Given the description of an element on the screen output the (x, y) to click on. 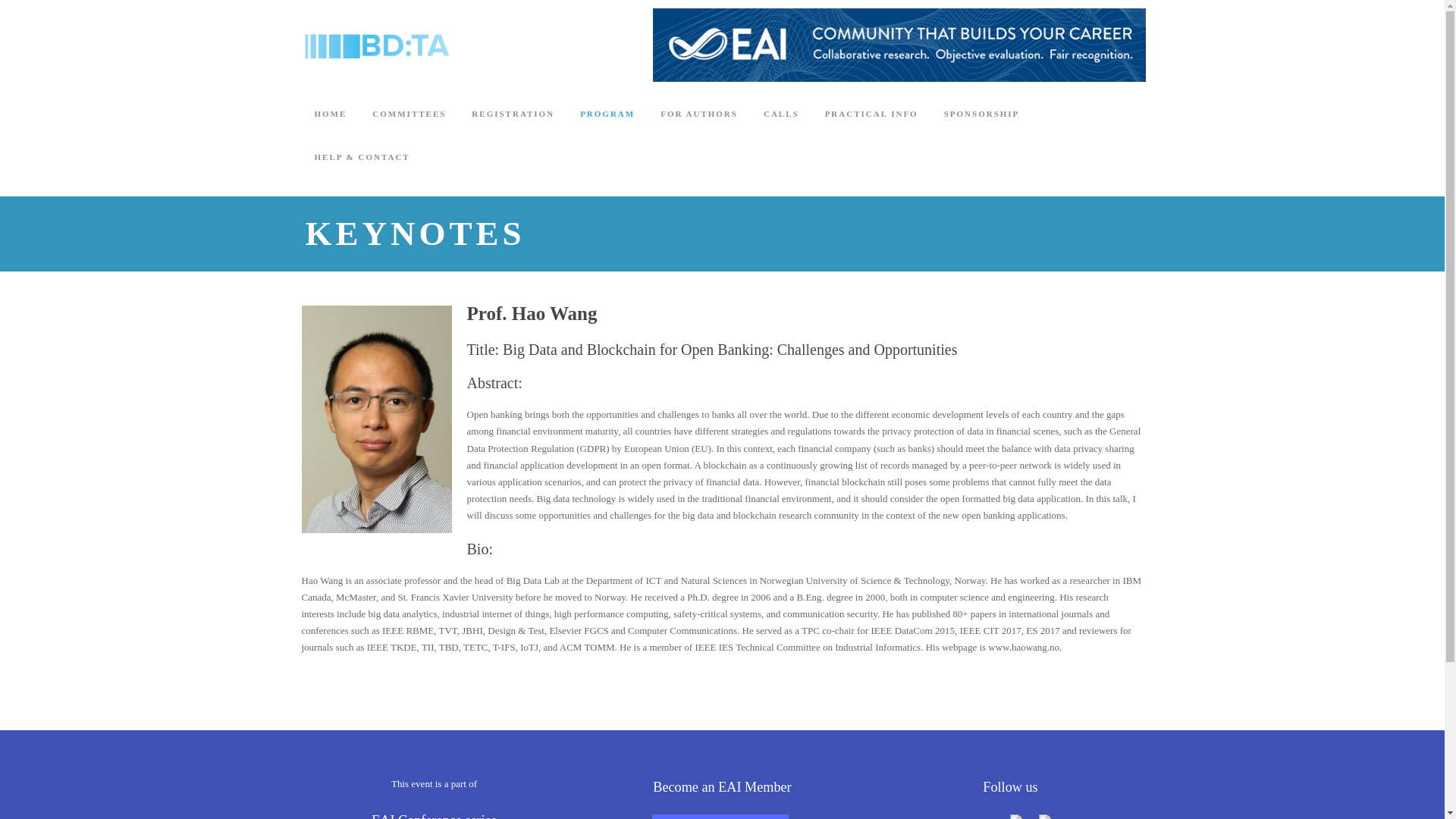
REGISTRATION (512, 128)
PRACTICAL INFO (871, 128)
PROGRAM (606, 128)
COMMITTEES (408, 128)
FOR AUTHORS (699, 128)
